Given the description of an element on the screen output the (x, y) to click on. 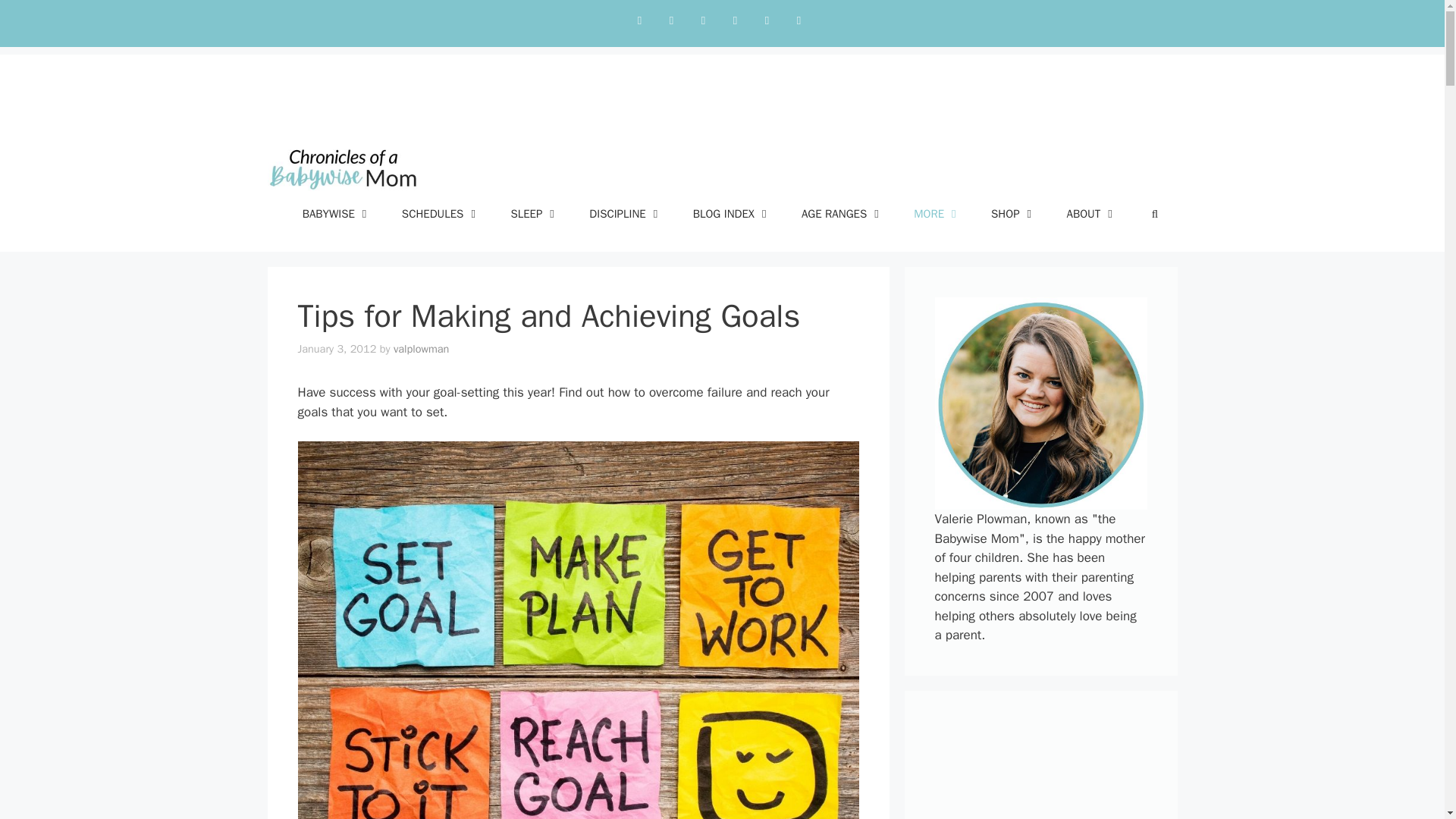
Facebook (703, 20)
View all posts by valplowman (421, 348)
Pinterest (735, 20)
Twitter (639, 20)
SLEEP (534, 213)
Newsletter (798, 20)
DISCIPLINE (625, 213)
Instagram (671, 20)
BABYWISE (336, 213)
SCHEDULES (441, 213)
